Given the description of an element on the screen output the (x, y) to click on. 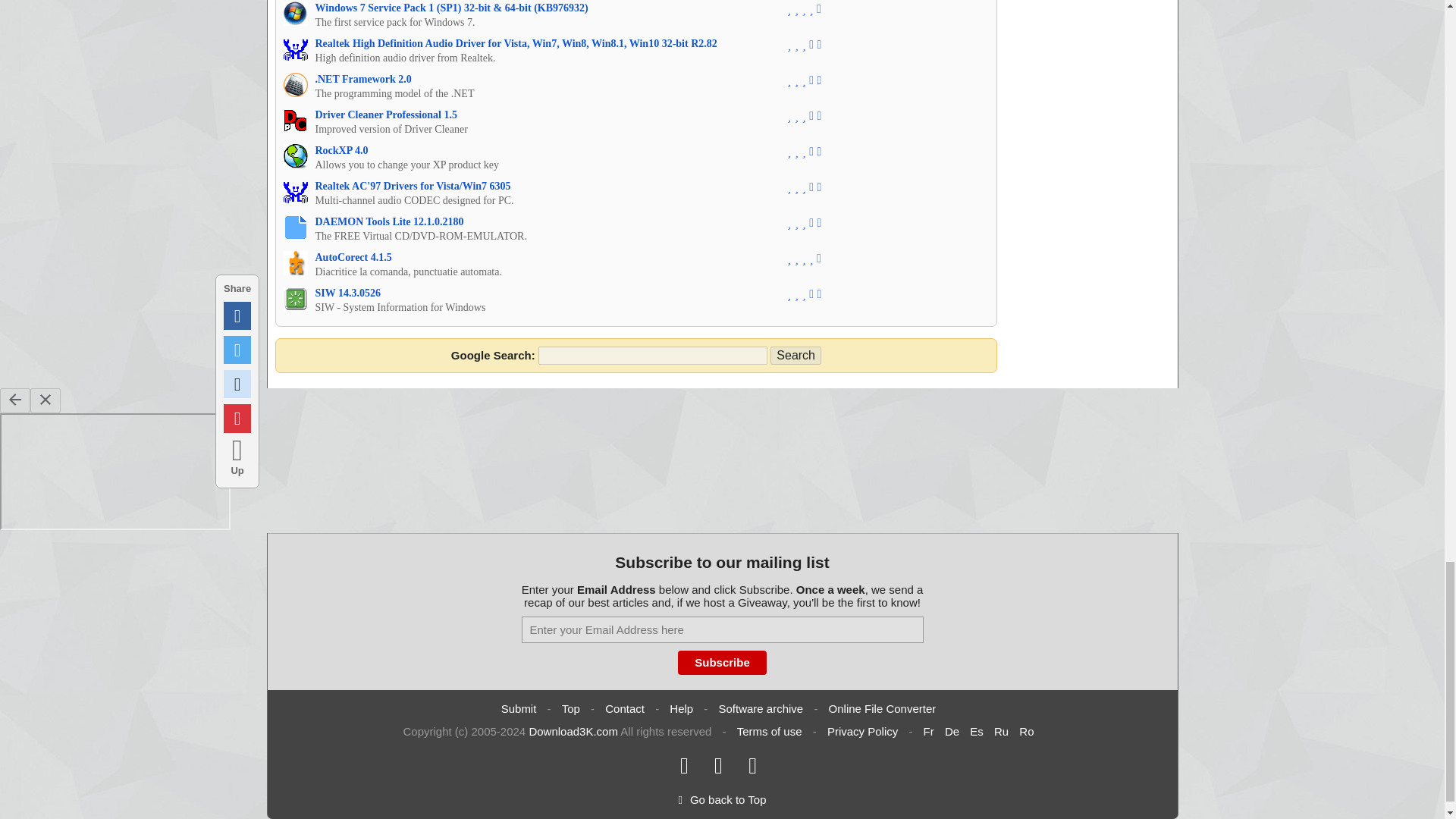
DAEMON Tools Lite 12.1.0.2180 (389, 221)
Search (795, 355)
Subscribe (722, 662)
Driver Cleaner Professional 1.5 (386, 114)
AutoCorect 4.1.5 (353, 256)
.NET Framework 2.0 - The programming model of the .NET (363, 79)
RockXP 4.0 (341, 150)
.NET Framework 2.0 (363, 79)
